Given the description of an element on the screen output the (x, y) to click on. 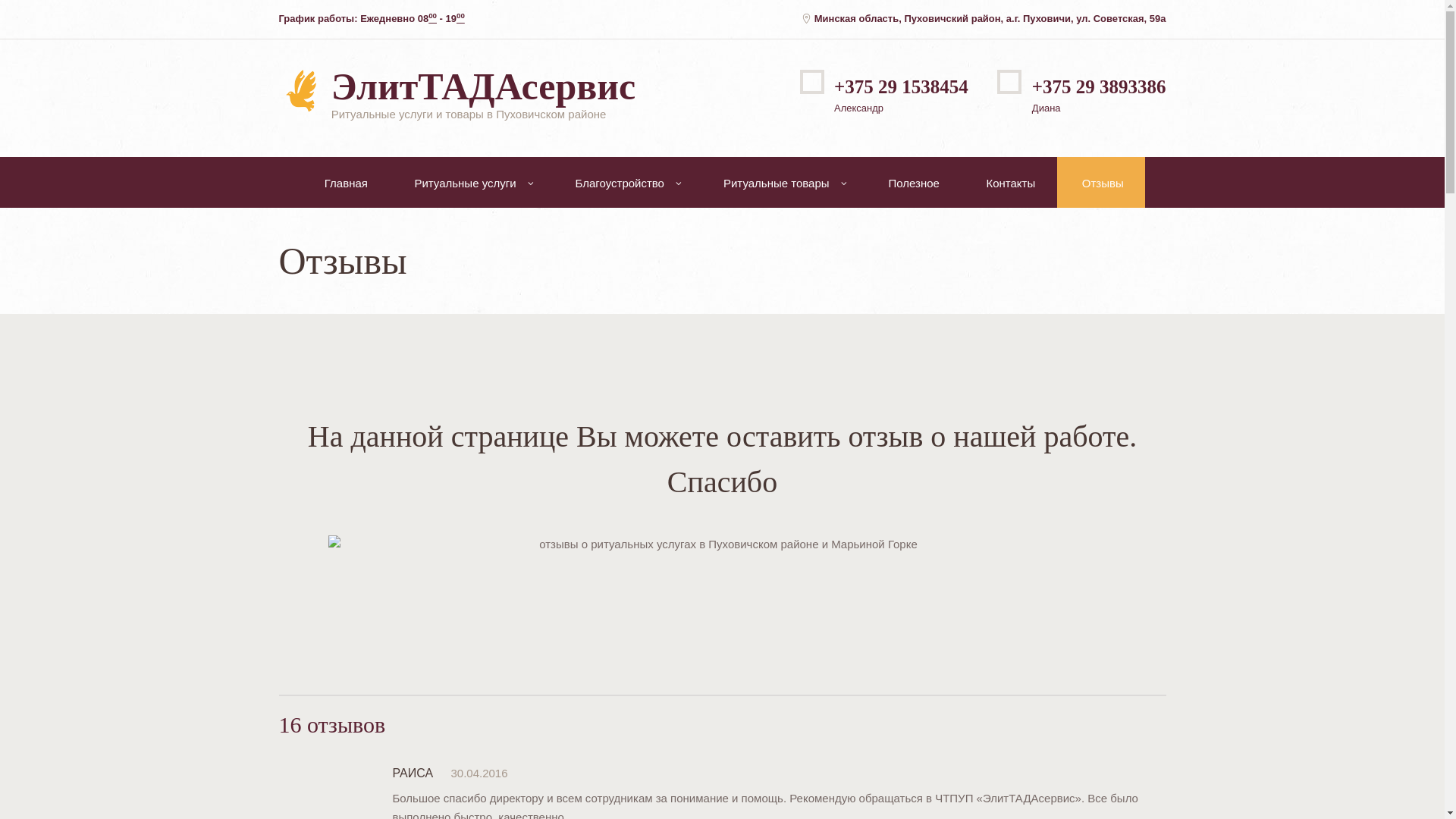
+375 29 3893386 Element type: text (1099, 86)
+375 29 1538454 Element type: text (901, 86)

                                             Element type: hover (300, 90)
